Given the description of an element on the screen output the (x, y) to click on. 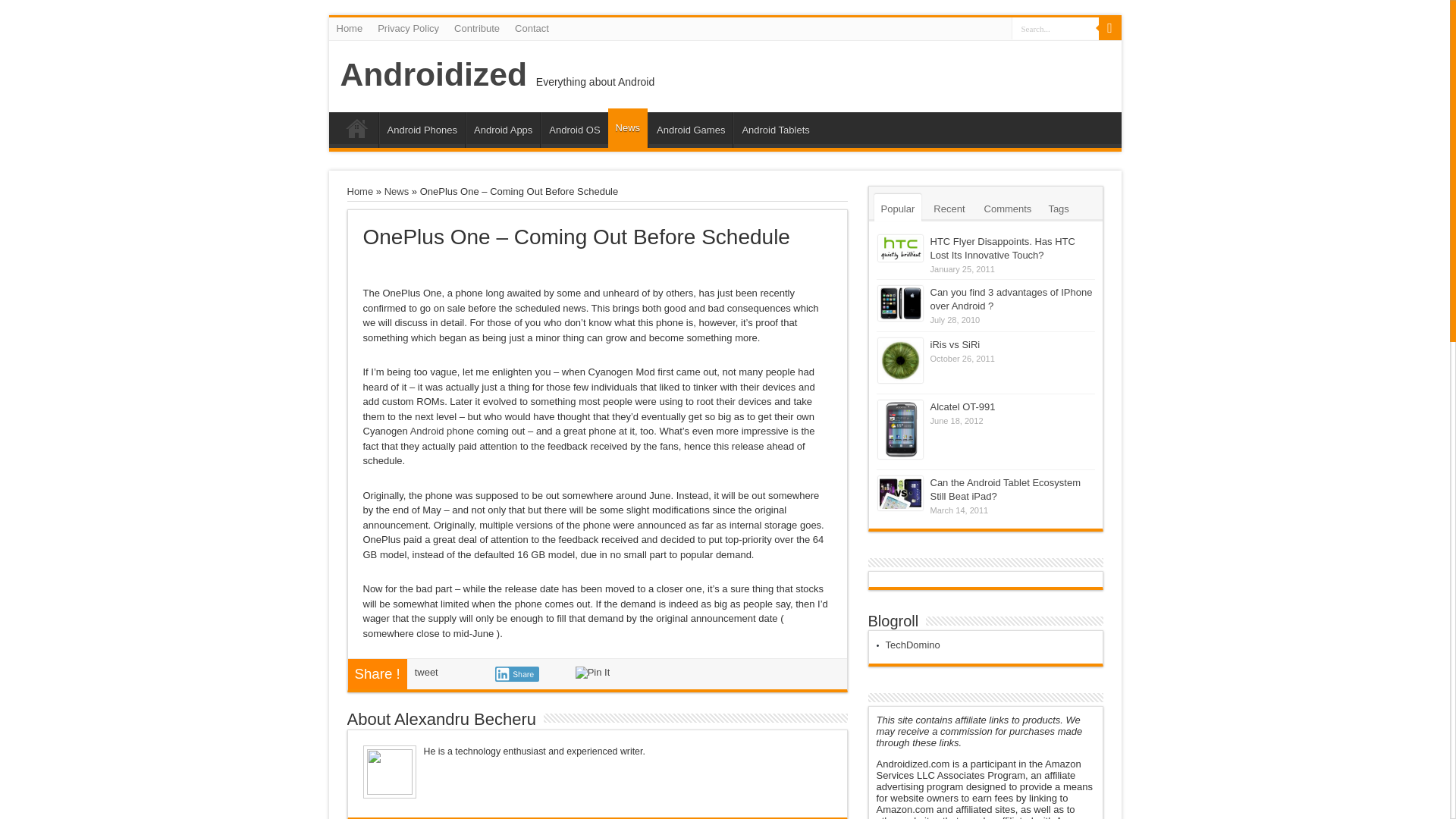
Search... (1055, 28)
News (627, 128)
Contact (531, 28)
Pin It (592, 672)
News (396, 191)
Home (357, 131)
Android Games (689, 130)
Android Tablets (774, 130)
Home (350, 28)
Home (360, 191)
Android phone (442, 430)
Contribute (476, 28)
Android Apps (502, 130)
Androidized (432, 74)
Search (1109, 28)
